Given the description of an element on the screen output the (x, y) to click on. 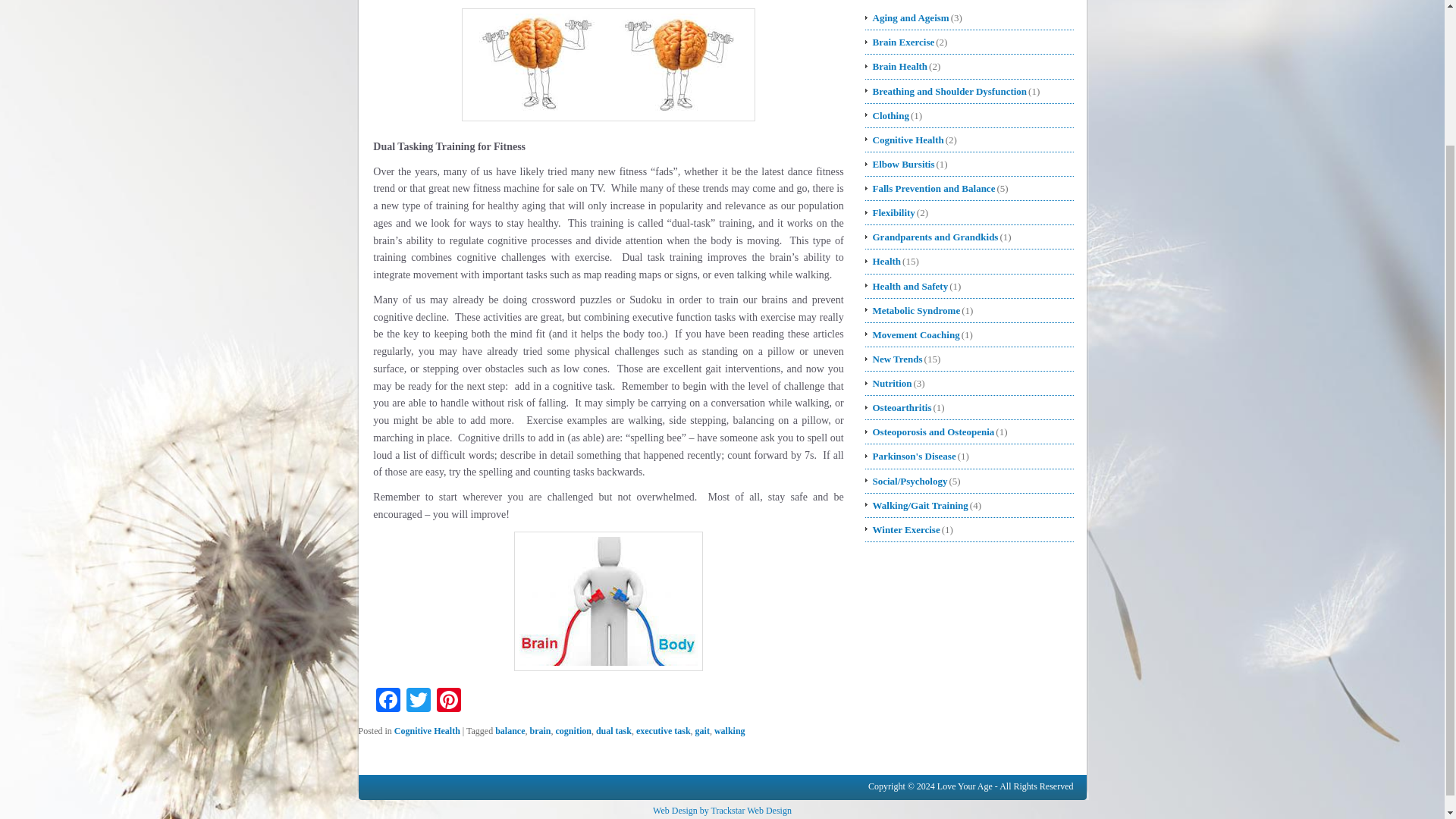
Clothing (887, 115)
Facebook (387, 699)
Aging and Ageism (907, 17)
walking (729, 730)
Cognitive Health (904, 139)
brain (540, 730)
Pinterest (448, 699)
gait (702, 730)
Brain Exercise (900, 41)
cognition (573, 730)
